Given the description of an element on the screen output the (x, y) to click on. 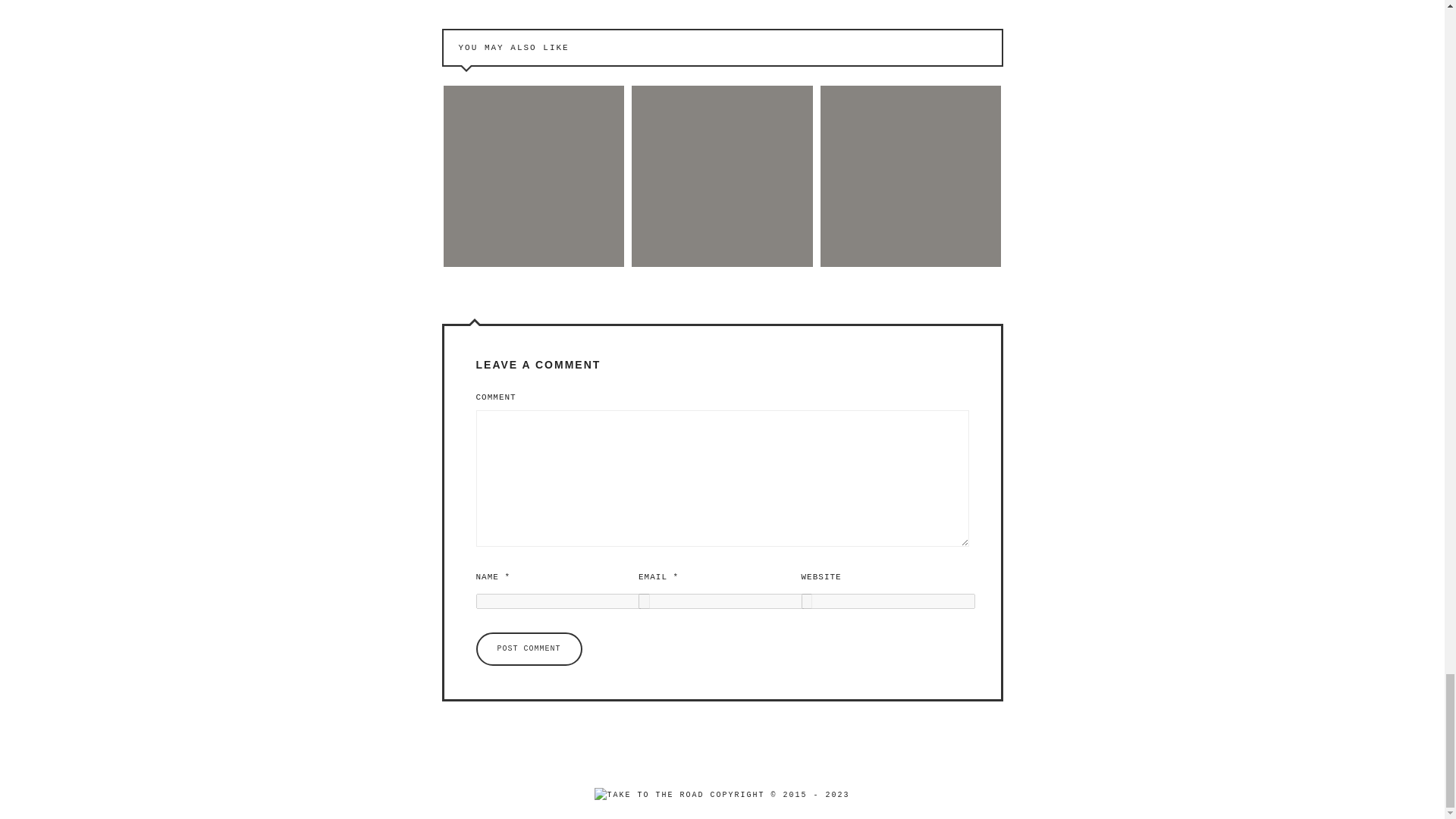
Post Comment (529, 648)
